Given the description of an element on the screen output the (x, y) to click on. 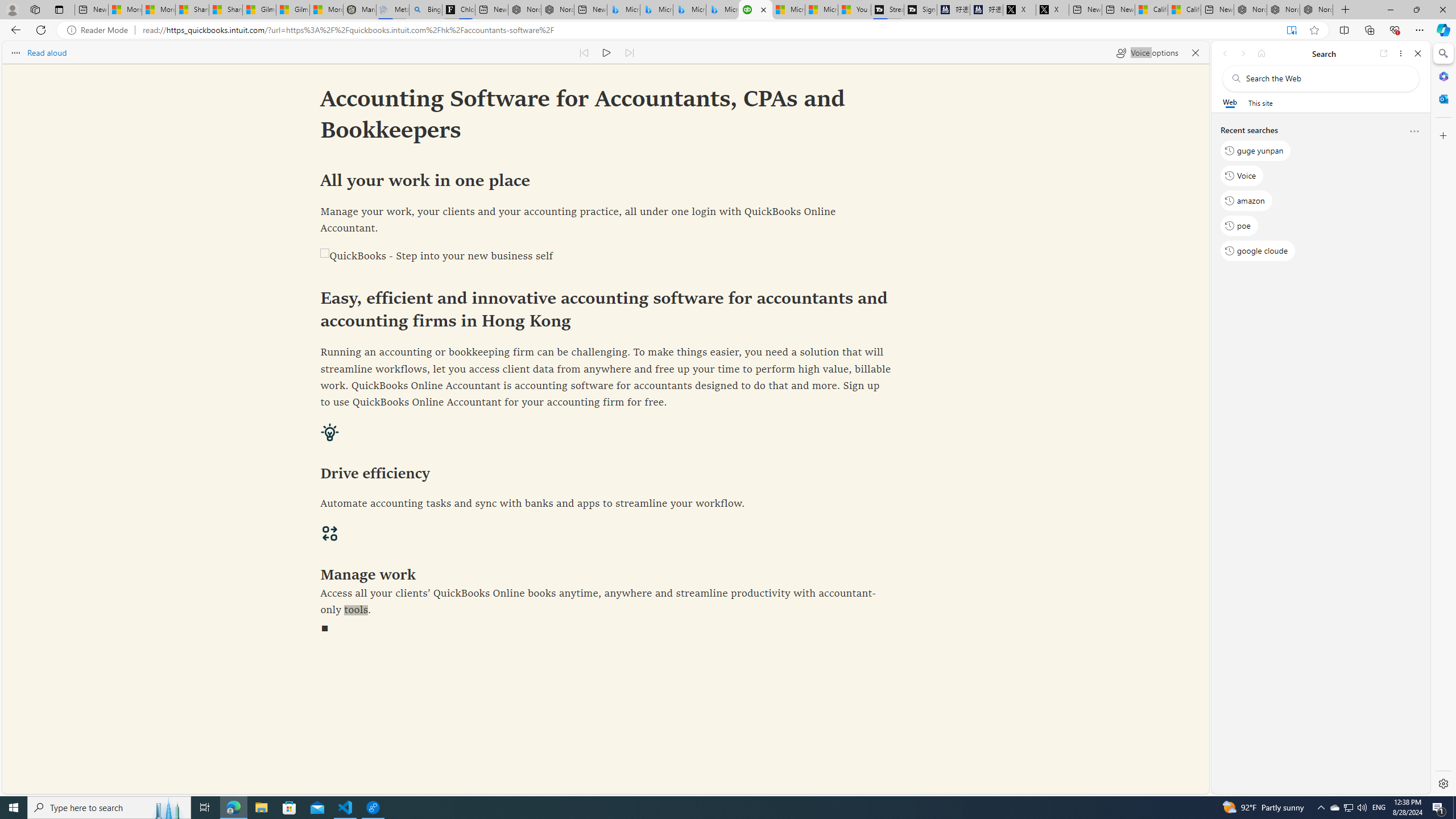
google cloude (1257, 250)
Open link in new tab (1383, 53)
Exit Immersive Reader (F9) (1291, 29)
Microsoft Bing Travel - Stays in Bangkok, Bangkok, Thailand (656, 9)
Outlook (1442, 98)
Close read aloud (1195, 52)
Nordace Siena Pro 15 Backpack (1283, 9)
Search the web (1326, 78)
